Given the description of an element on the screen output the (x, y) to click on. 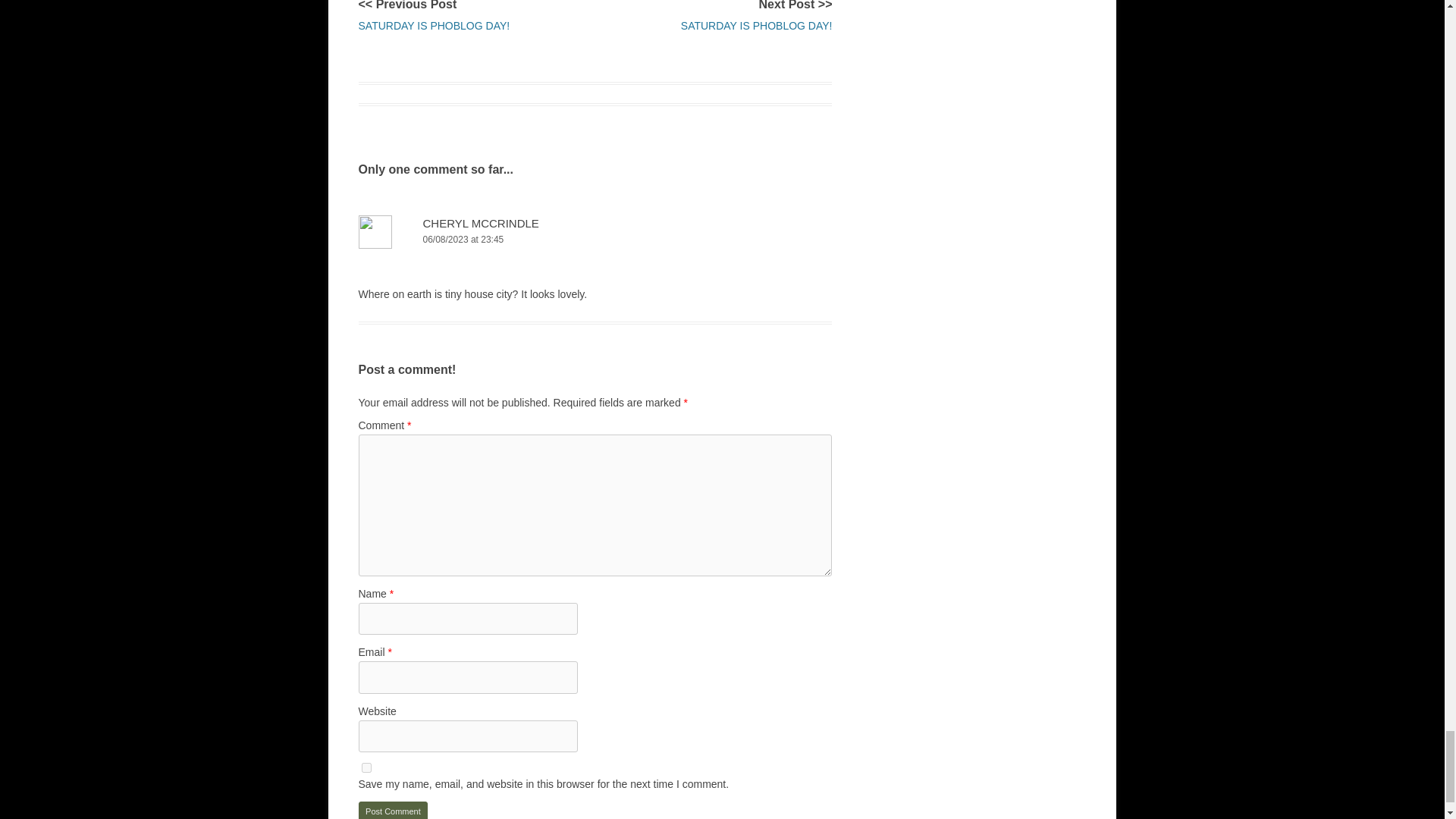
yes (366, 767)
SATURDAY IS PHOBLOG DAY! (433, 25)
SATURDAY IS PHOBLOG DAY! (756, 25)
